Given the description of an element on the screen output the (x, y) to click on. 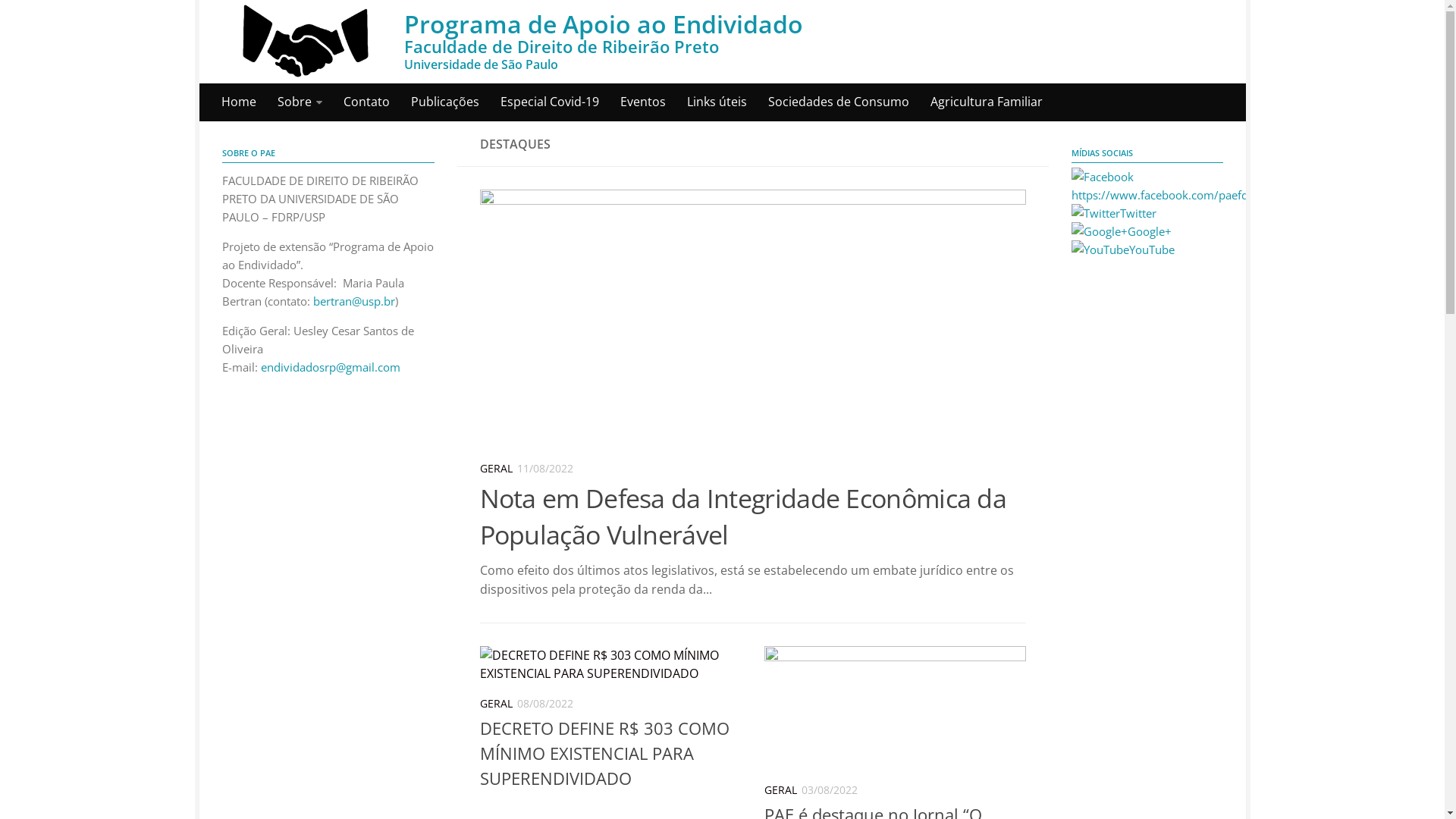
bertran@usp.br Element type: text (353, 300)
Programa de Apoio ao Endividado Element type: hover (304, 41)
Sobre Element type: text (299, 102)
https://www.facebook.com/paefdrp Element type: text (1164, 185)
Twitter Element type: text (1112, 212)
YouTube Element type: text (1121, 249)
GERAL Element type: text (495, 468)
Contato Element type: text (365, 101)
Google+ Element type: hover (1098, 231)
Especial Covid-19 Element type: text (549, 101)
Sociedades de Consumo Element type: text (837, 101)
YouTube Element type: hover (1099, 249)
Facebook Element type: hover (1101, 176)
Agricultura Familiar Element type: text (985, 101)
Google+ Element type: text (1120, 230)
Home Element type: text (238, 101)
Twitter Element type: hover (1094, 212)
GERAL Element type: text (780, 789)
GERAL Element type: text (495, 703)
endividadosrp@gmail.com Element type: text (330, 366)
Eventos Element type: text (642, 101)
